Given the description of an element on the screen output the (x, y) to click on. 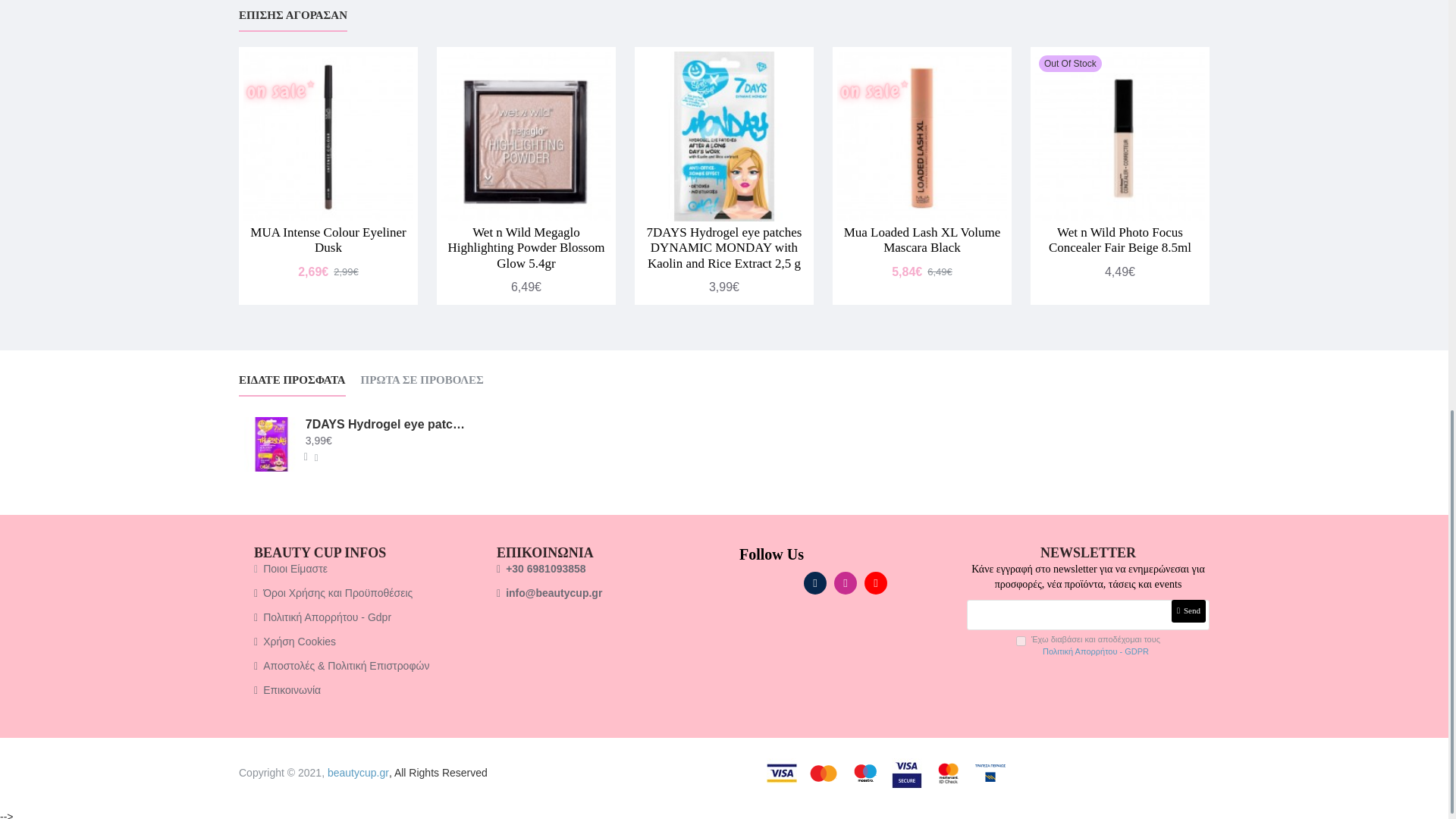
1 (1021, 641)
